Given the description of an element on the screen output the (x, y) to click on. 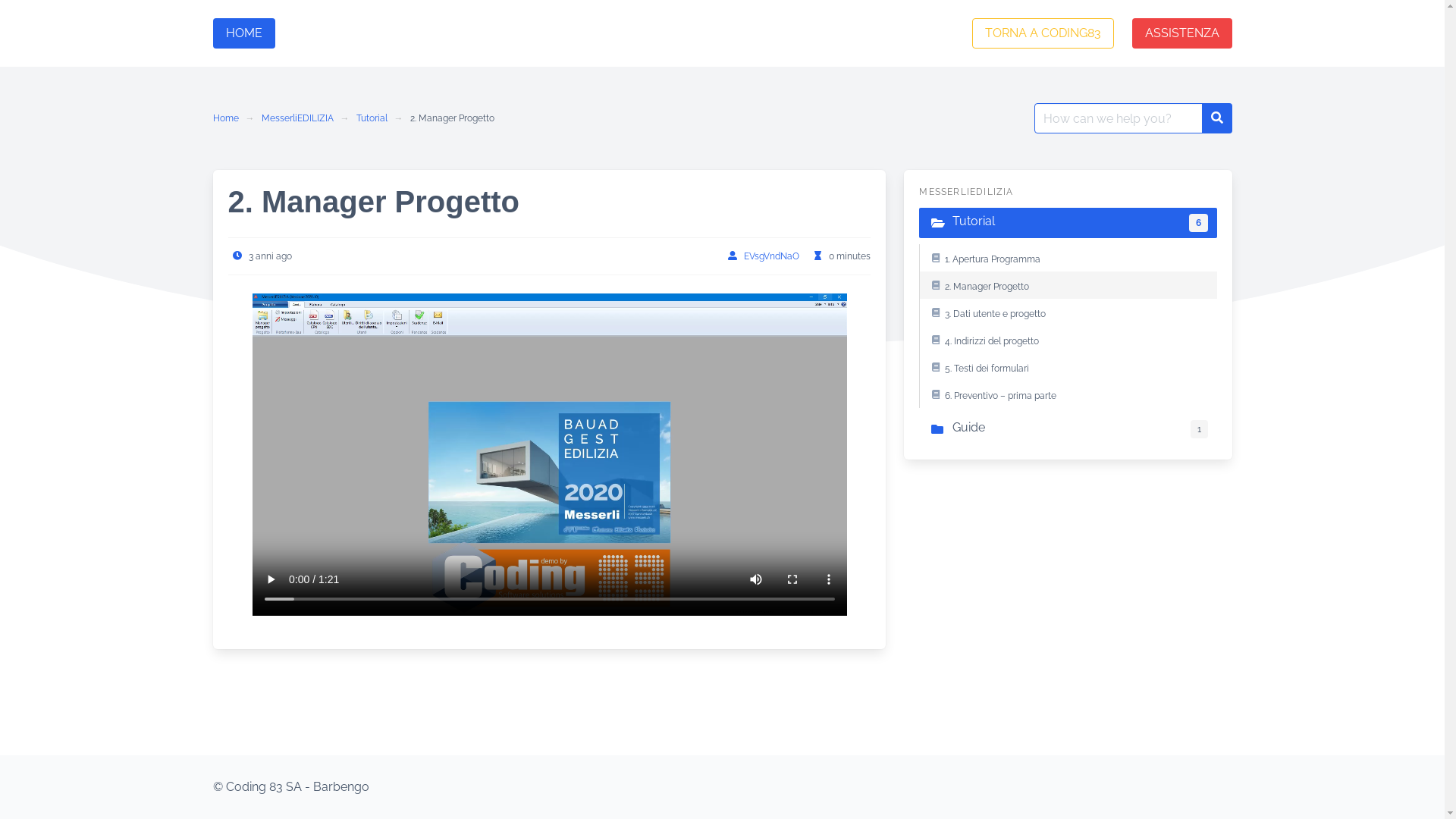
MesserliEDILIZIA Element type: text (297, 118)
Tutorial Element type: text (370, 118)
Tutorial
6 Element type: text (1067, 222)
3. Dati utente e progetto Element type: text (1067, 312)
Home Element type: text (228, 118)
TORNA A CODING83 Element type: text (1042, 33)
Guide
1 Element type: text (1067, 429)
1. Apertura Programma Element type: text (1067, 257)
5. Testi dei formulari Element type: text (1067, 366)
2. Manager Progetto Element type: text (1067, 284)
4. Indirizzi del progetto Element type: text (1067, 339)
HOME Element type: text (243, 33)
ASSISTENZA Element type: text (1181, 33)
EVsgVndNaO Element type: text (771, 256)
2. Manager Progetto Element type: text (452, 118)
